Given the description of an element on the screen output the (x, y) to click on. 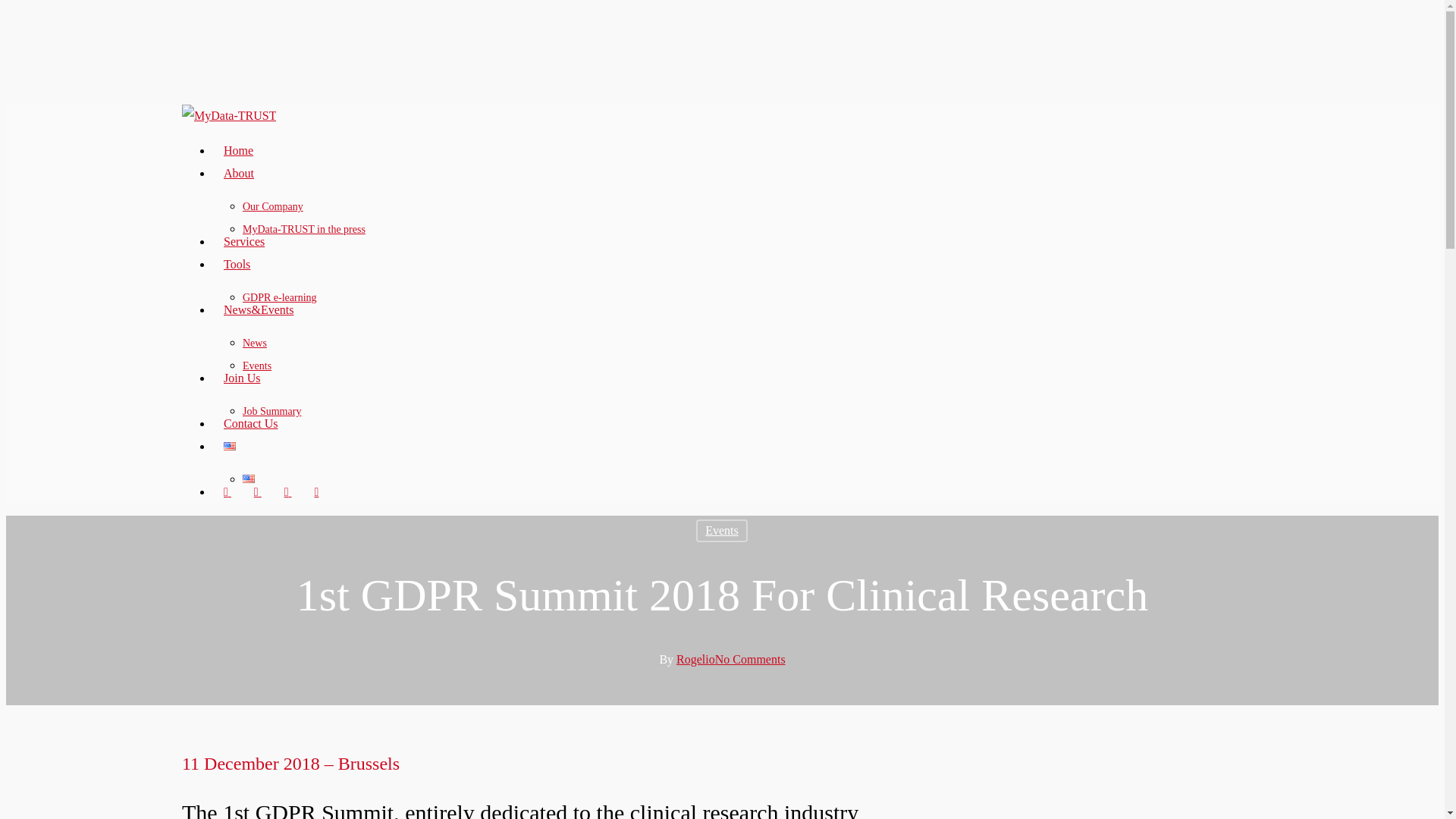
Join Us (241, 377)
MyData-TRUST in the press (304, 229)
Rogelio (695, 658)
Facebook (258, 491)
Services (244, 241)
No Comments (750, 658)
Youtube (316, 491)
Linkedin (287, 491)
Our Company (272, 206)
Twitter (227, 491)
Tools (237, 264)
News (254, 342)
Events (721, 530)
Job Summary (272, 410)
